Given the description of an element on the screen output the (x, y) to click on. 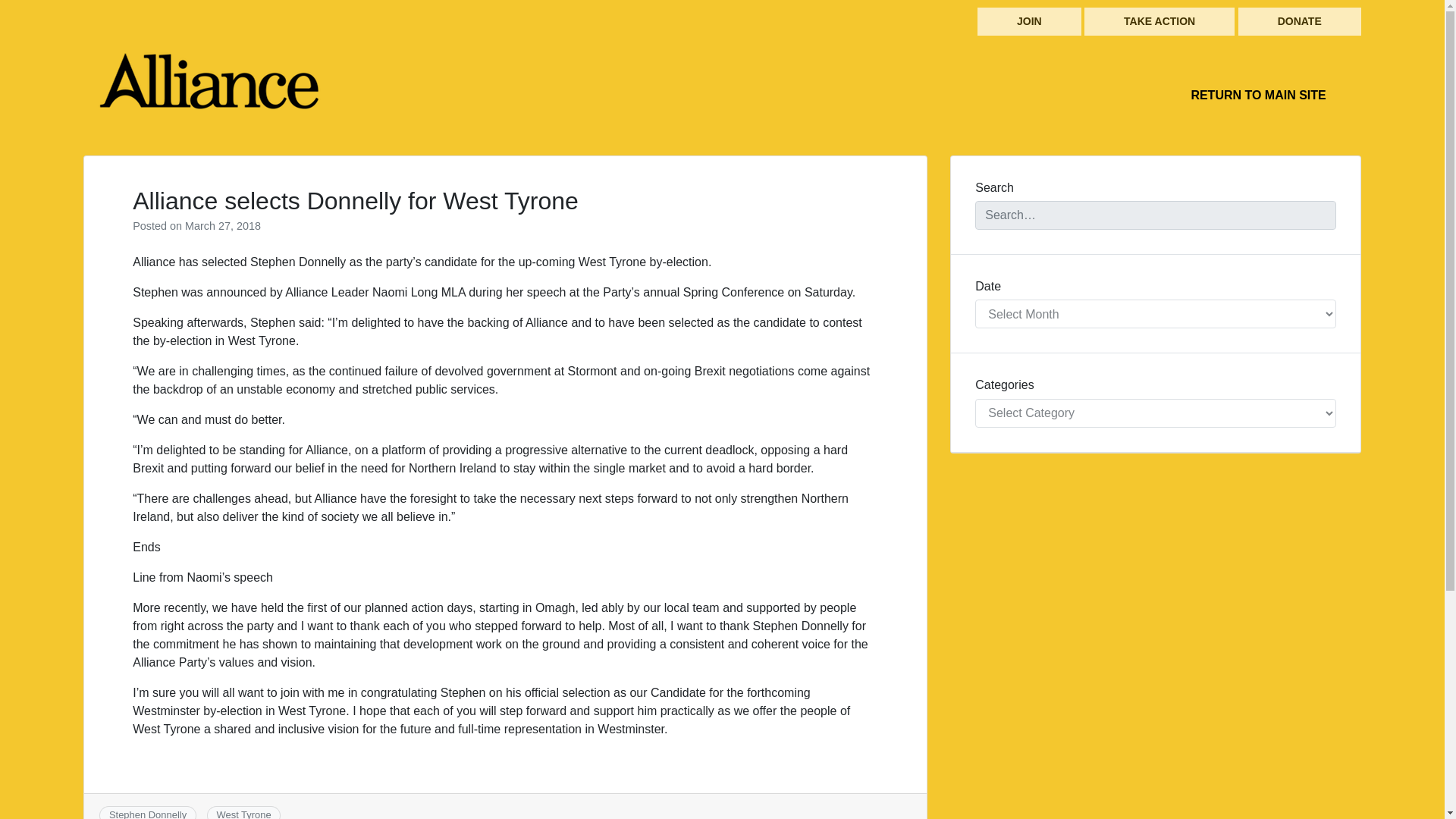
RETURN TO MAIN SITE (1257, 95)
March 27, 2018 (222, 225)
TAKE ACTION (1159, 21)
Stephen Donnelly (147, 814)
JOIN (1028, 21)
DONATE (1300, 21)
West Tyrone (242, 814)
